Given the description of an element on the screen output the (x, y) to click on. 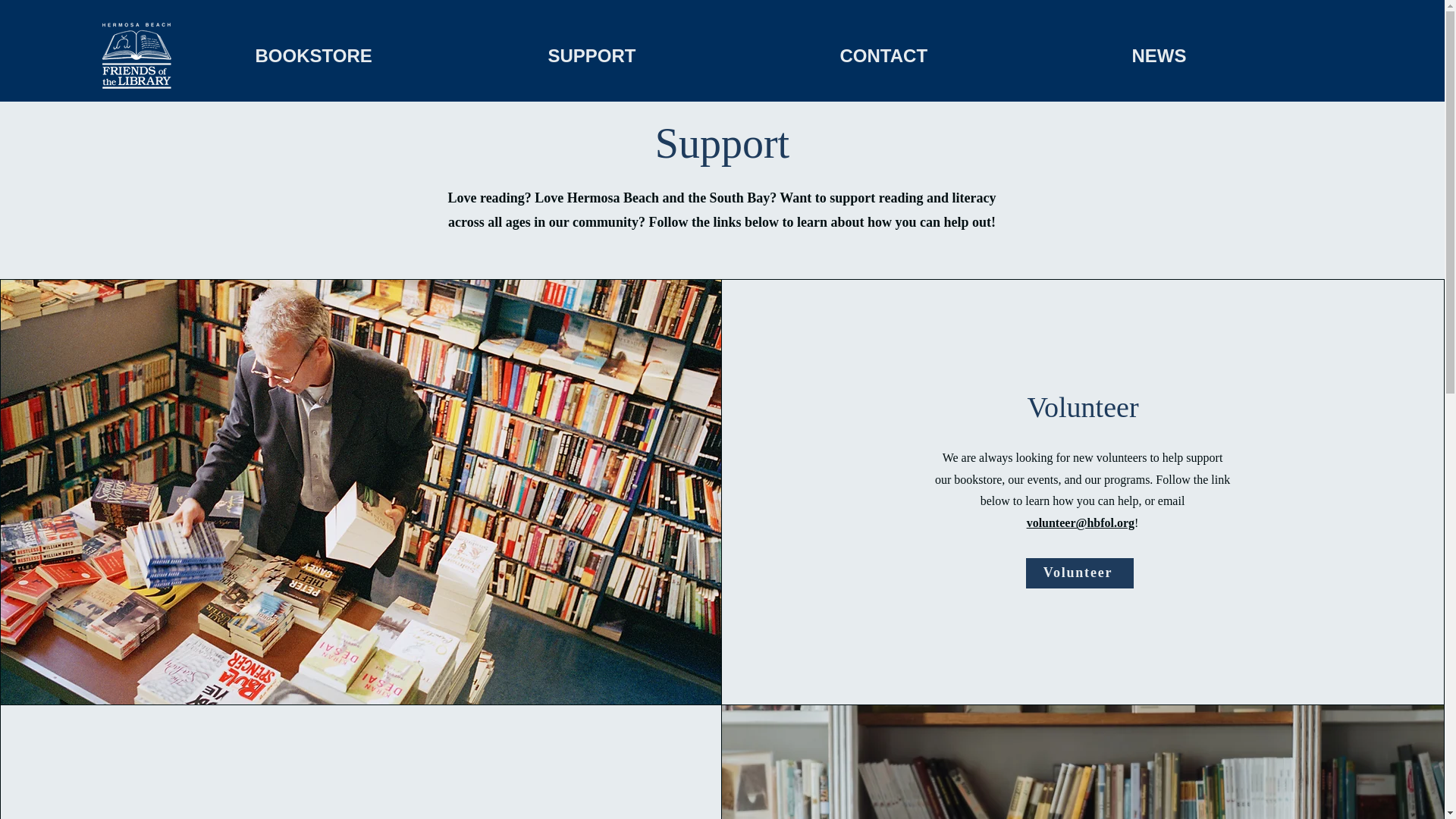
BOOKSTORE (390, 55)
NEWS (1266, 55)
Volunteer (1080, 572)
CONTACT (973, 55)
SUPPORT (682, 55)
